Given the description of an element on the screen output the (x, y) to click on. 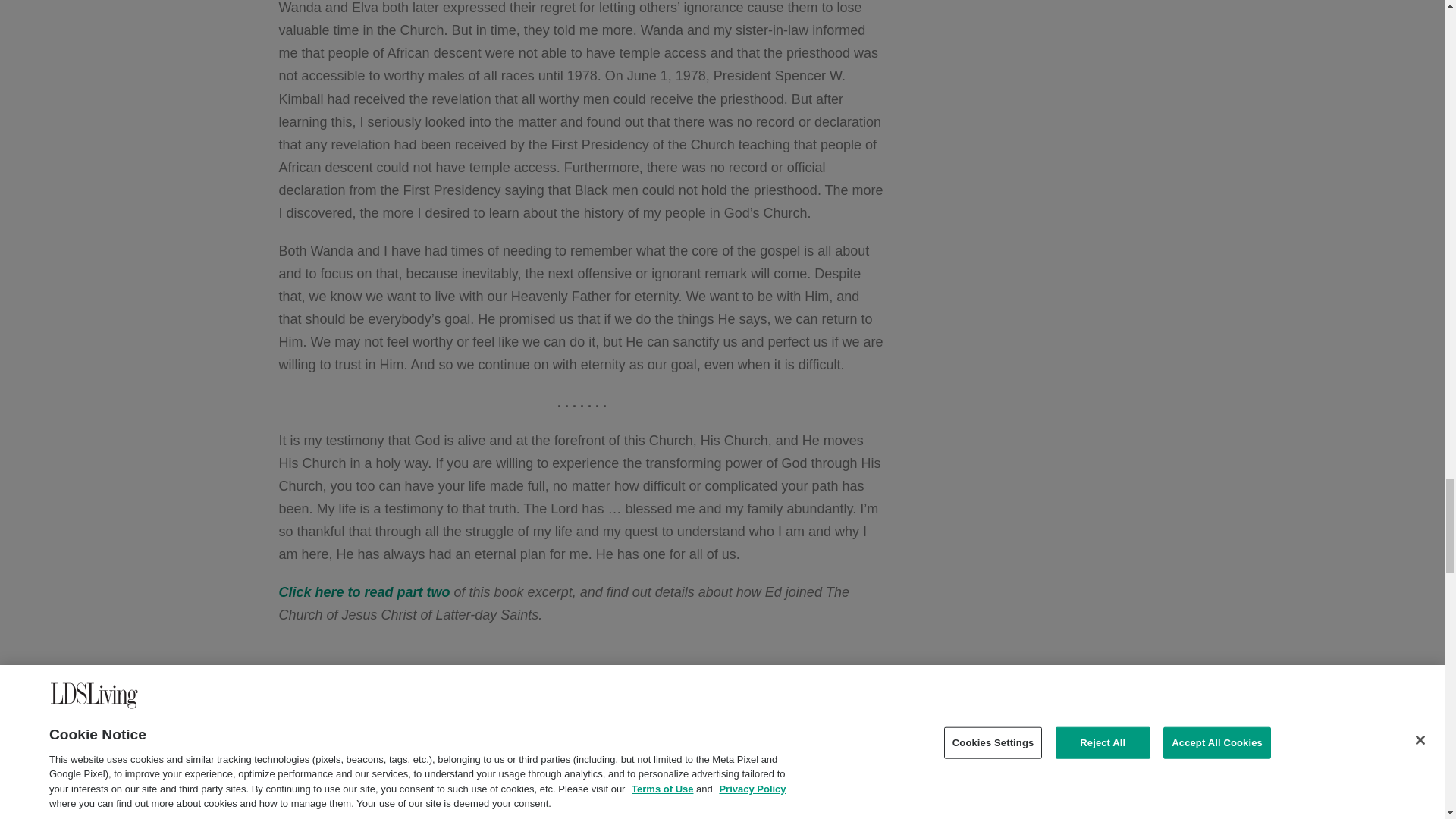
3rd party ad content (582, 691)
